Given the description of an element on the screen output the (x, y) to click on. 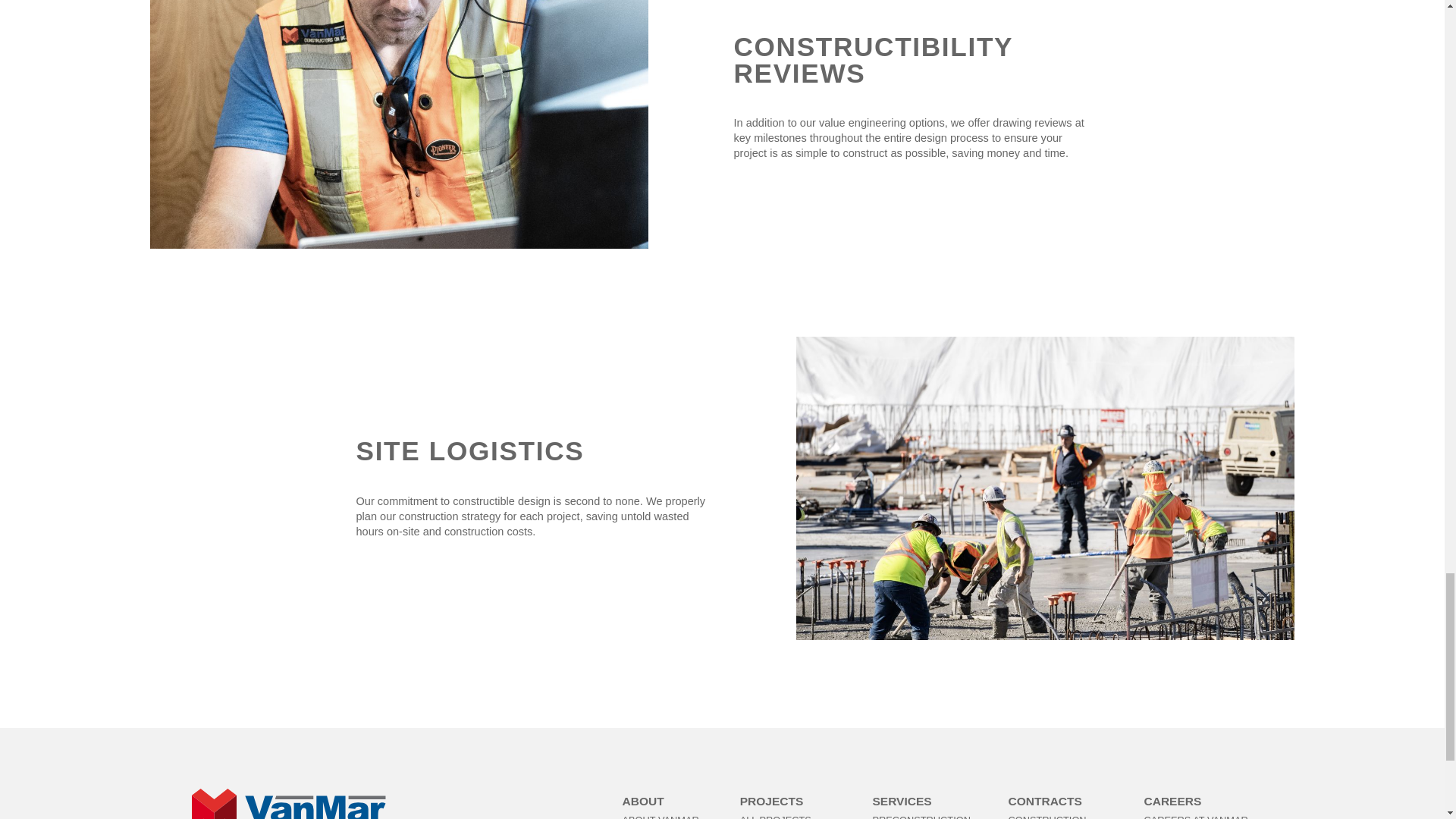
ABOUT (643, 800)
